Given the description of an element on the screen output the (x, y) to click on. 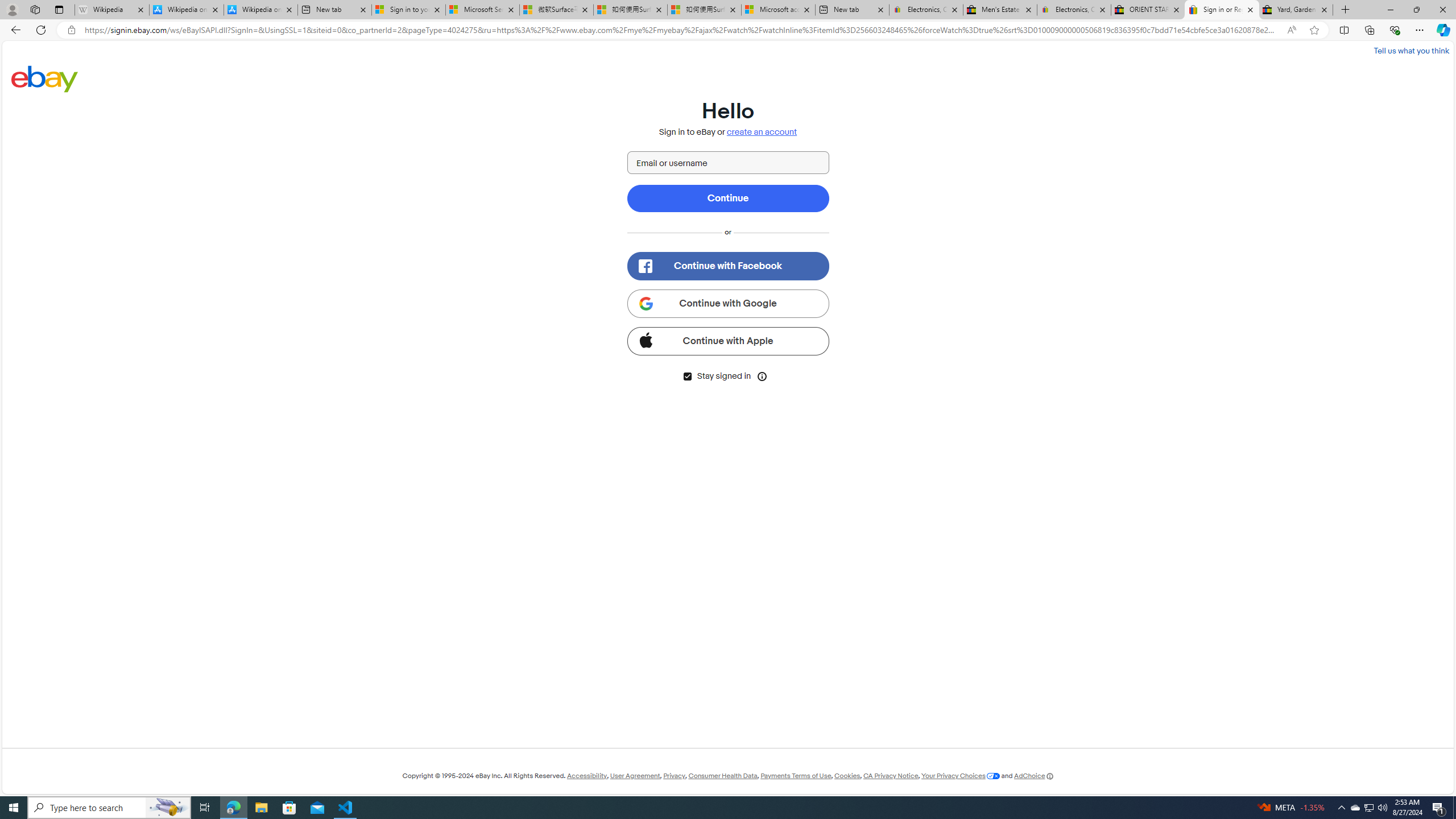
Sign in or Register | eBay (1221, 9)
Yard, Garden & Outdoor Living (1295, 9)
CA Privacy Notice (890, 775)
Tell us what you think - Link opens in a new window (1410, 50)
AdChoice (1033, 775)
Stay signed in (687, 376)
